Given the description of an element on the screen output the (x, y) to click on. 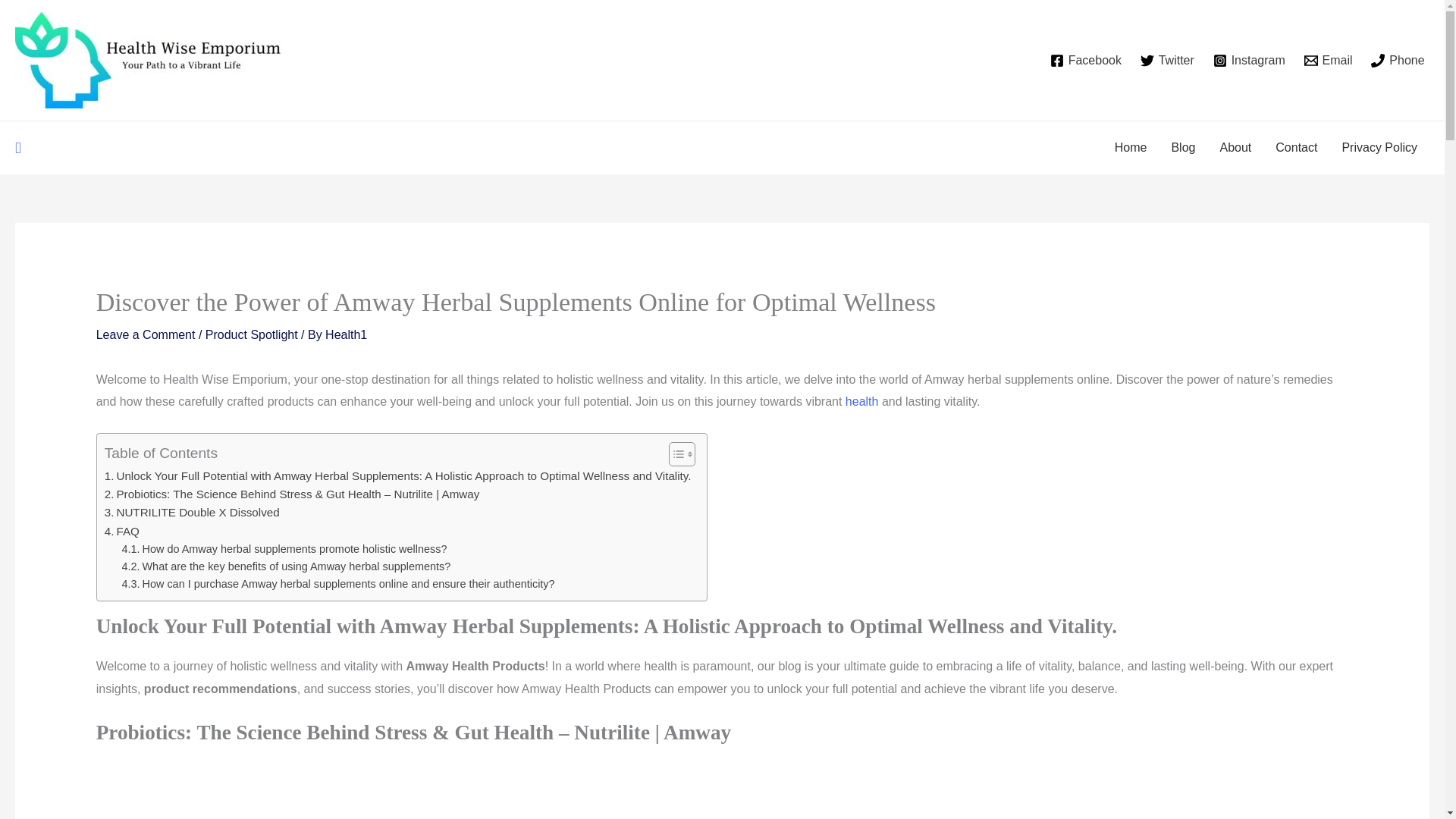
View all posts by Health1 (345, 334)
Health1 (345, 334)
Leave a Comment (145, 334)
How do Amway herbal supplements promote holistic wellness? (284, 548)
Contact (1296, 147)
Product Spotlight (251, 334)
FAQ (121, 531)
Facebook (1085, 60)
